Given the description of an element on the screen output the (x, y) to click on. 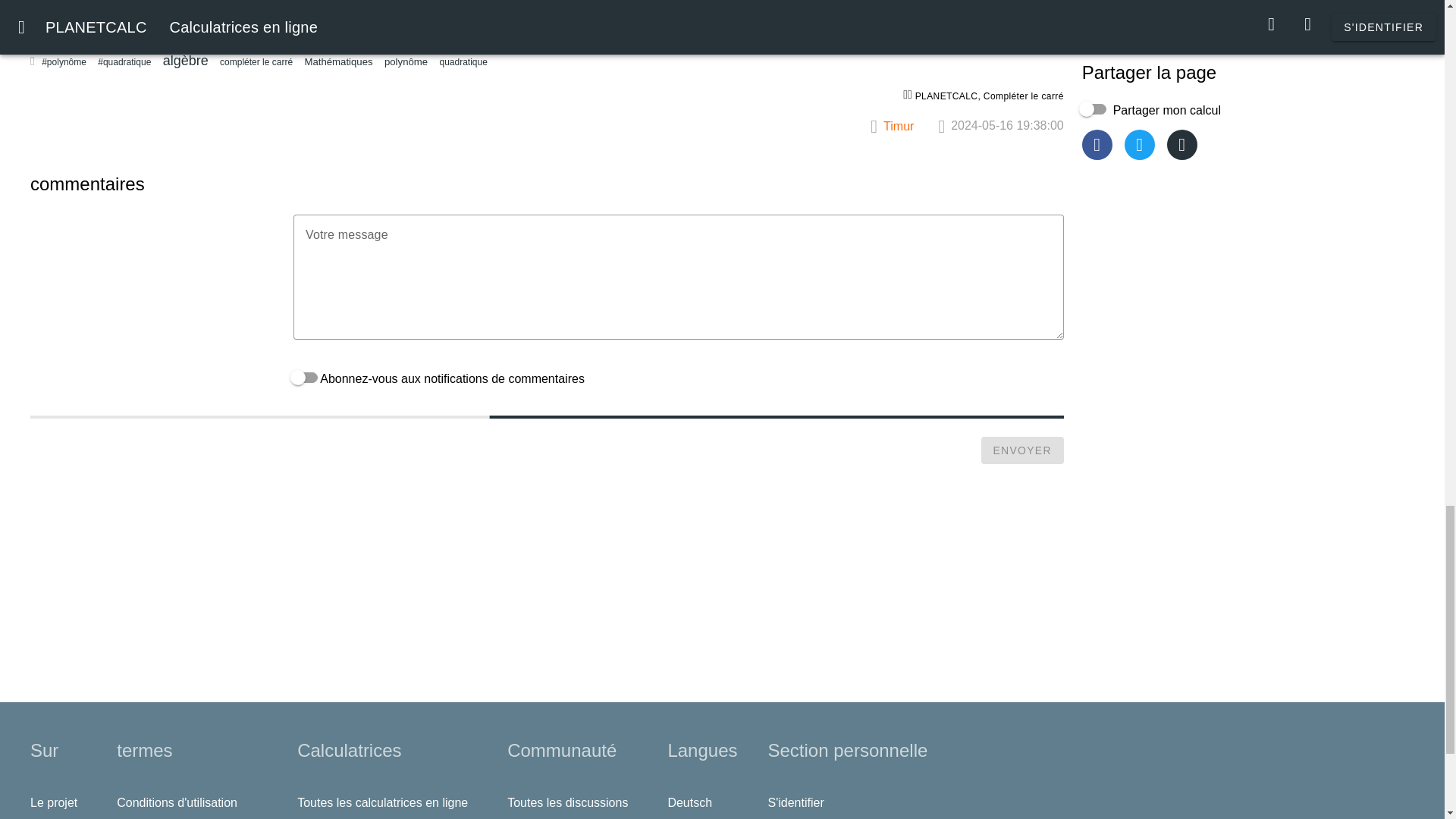
Racines polynomiales (531, 8)
Le projet (57, 802)
Timur (910, 125)
ENVOYER (1022, 450)
Lediscriminant (88, 8)
Deutsch (693, 802)
Lediscriminant (88, 8)
Racines polynomiales (531, 8)
quadratique (462, 61)
